Given the description of an element on the screen output the (x, y) to click on. 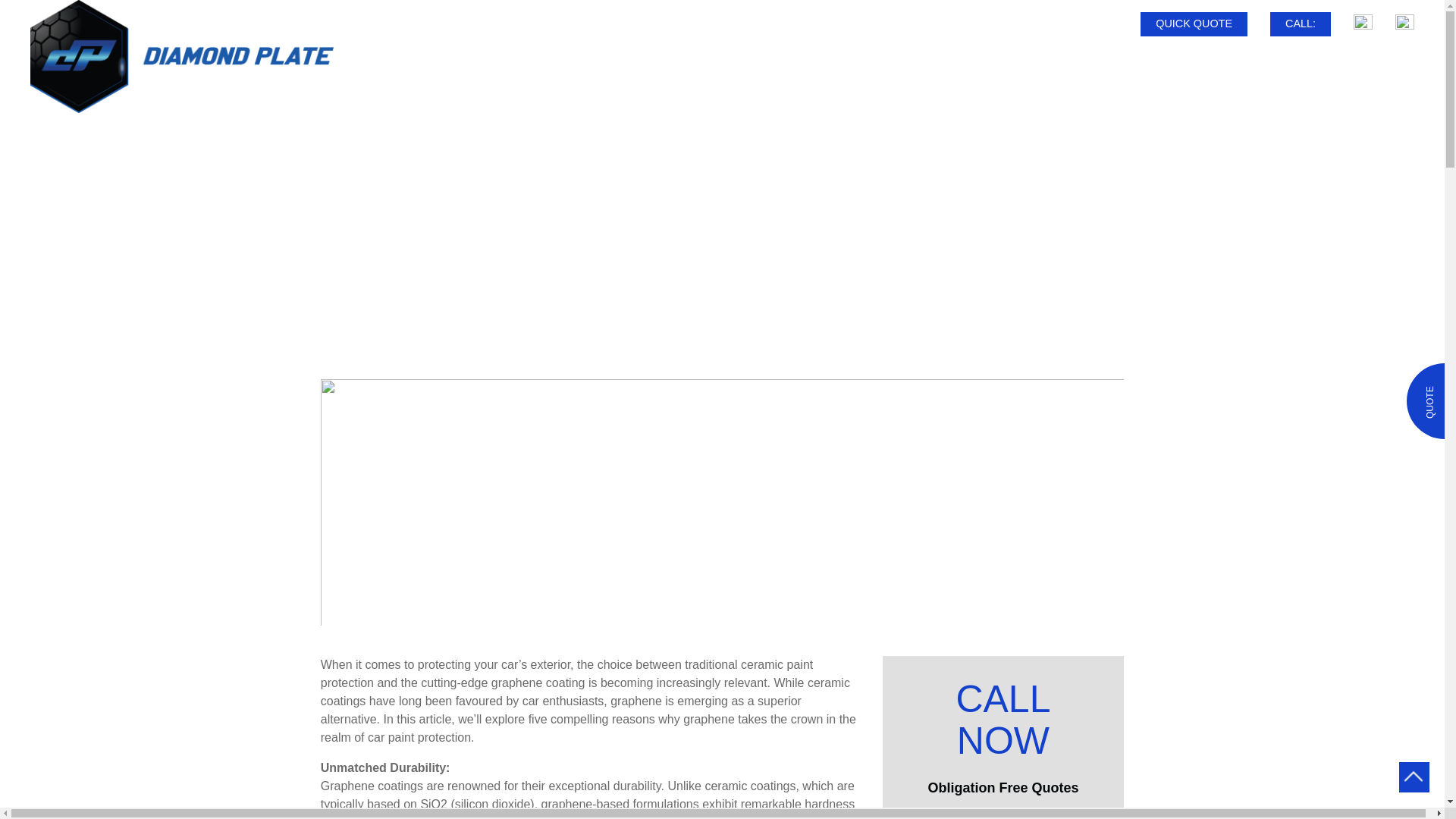
PRODUCTS (1104, 60)
CONTACT (1411, 60)
NEWS (1277, 60)
BENEFITS (1175, 60)
ABOUT US (882, 60)
FAQS (1231, 60)
CALL: (1299, 24)
QUICK QUOTE (1193, 24)
HOME (827, 60)
LOCATIONS (1339, 60)
